Given the description of an element on the screen output the (x, y) to click on. 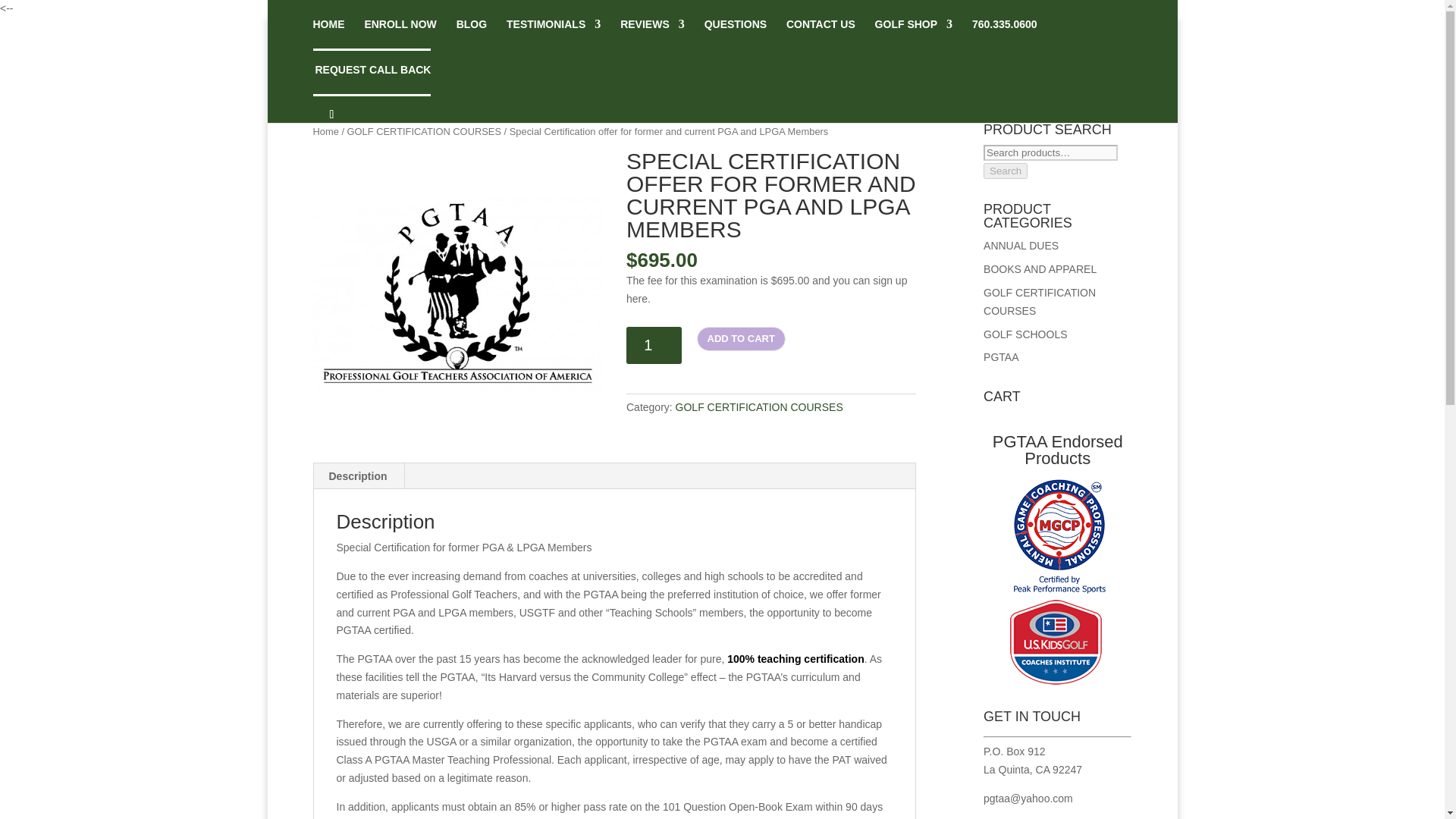
GOLF CERTIFICATION COURSES (423, 131)
BLOG (471, 33)
CONTACT US (821, 33)
GOLF SCHOOLS (1025, 334)
Description (358, 475)
REVIEWS (652, 33)
Home (325, 131)
QUESTIONS (735, 33)
Search (1005, 170)
BOOKS AND APPAREL (1040, 268)
ADD TO CART (741, 338)
GOLF SHOP (913, 33)
PGTAA (457, 294)
GOLF CERTIFICATION COURSES (759, 407)
PGTAA (1000, 357)
